Given the description of an element on the screen output the (x, y) to click on. 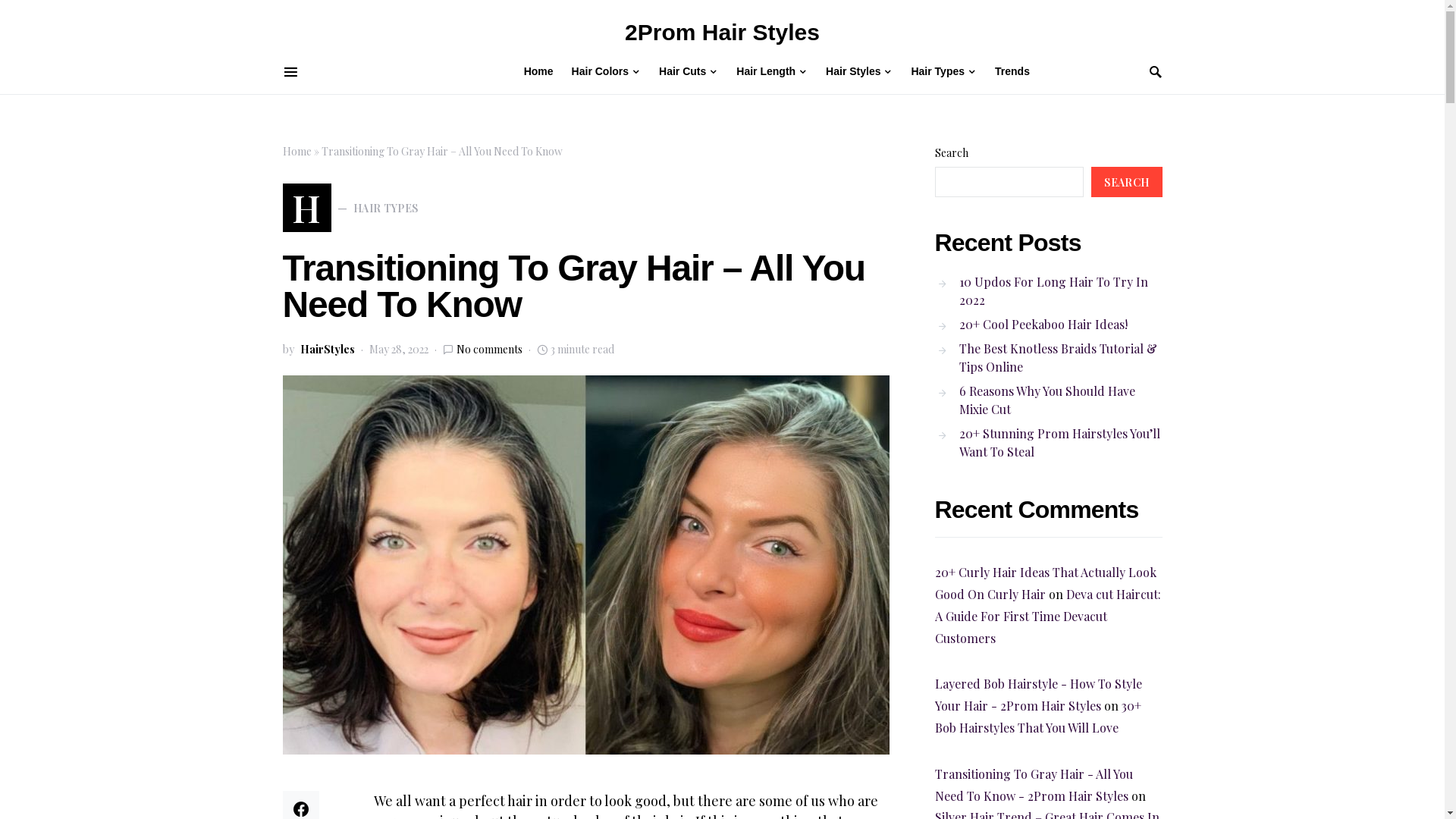
Trends Element type: text (1007, 71)
10 Updos For Long Hair To Try In 2022 Element type: text (1047, 290)
6 Reasons Why You Should Have Mixie Cut Element type: text (1047, 400)
Hair Length Element type: text (771, 71)
Hair Types Element type: text (943, 71)
Hair Colors Element type: text (605, 71)
20+ Curly Hair Ideas That Actually Look Good On Curly Hair Element type: text (1044, 583)
Hair Styles Element type: text (858, 71)
No comments Element type: text (489, 349)
The Best Knotless Braids Tutorial & Tips Online Element type: text (1047, 357)
Deva cut Haircut: A Guide For First Time Devacut Customers Element type: text (1047, 616)
20+ Cool Peekaboo Hair Ideas! Element type: text (1030, 324)
HairStyles Element type: text (327, 349)
Home Element type: text (543, 71)
SEARCH Element type: text (1126, 181)
H
HAIR TYPES Element type: text (349, 207)
Hair Cuts Element type: text (688, 71)
30+ Bob Hairstyles That You Will Love Element type: text (1037, 716)
2Prom Hair Styles Element type: text (721, 32)
Home Element type: text (296, 151)
